Given the description of an element on the screen output the (x, y) to click on. 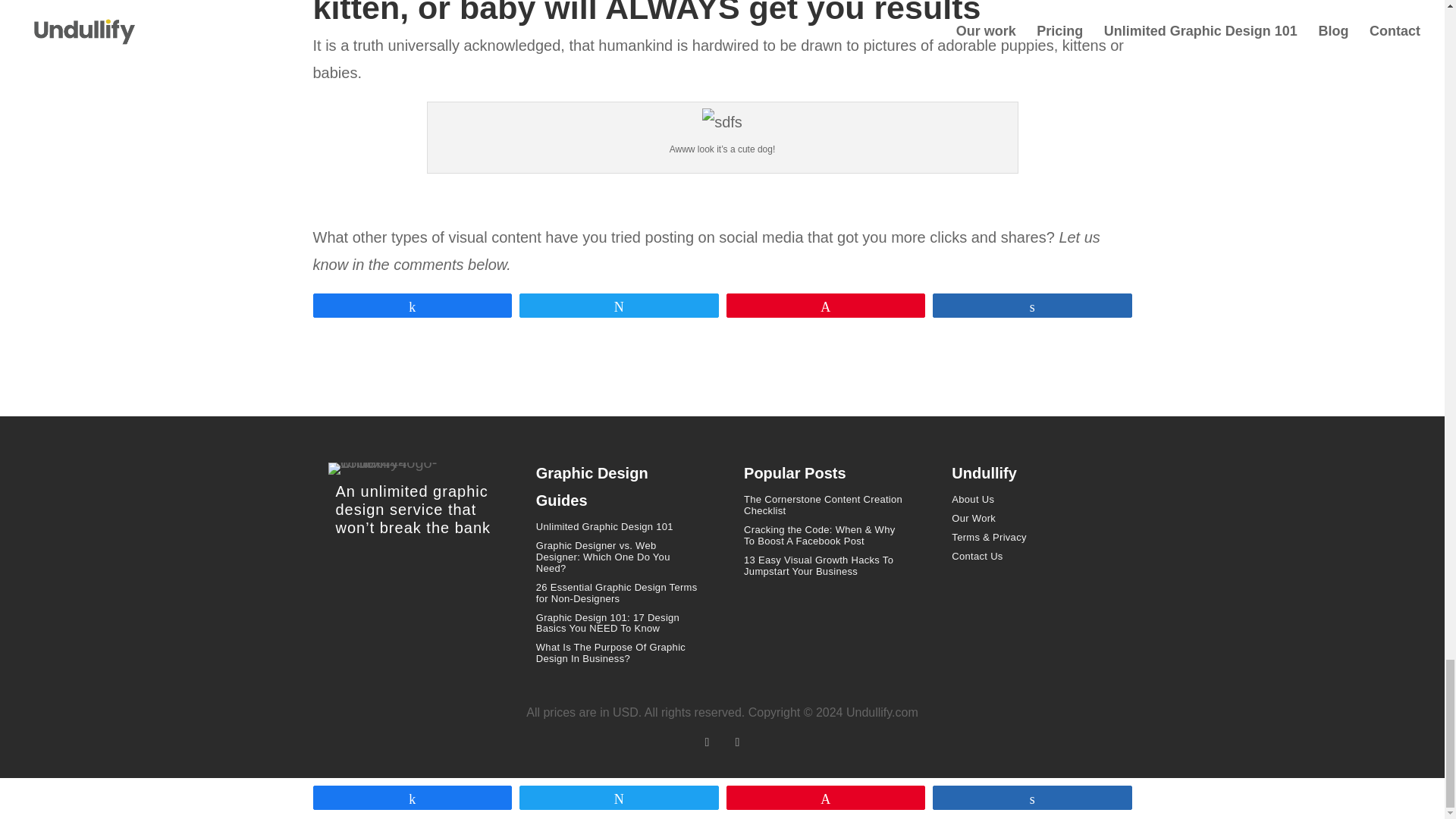
Unlimited Graphic Design 101 (603, 526)
Graphic Design 101: 17 Design Basics You NEED To Know (607, 622)
13 Easy Visual Growth Hacks To Jumpstart Your Business (818, 565)
Follow on Facebook (706, 742)
Contact Us (977, 555)
Graphic Designer vs. Web Designer: Which One Do You Need? (602, 556)
Follow on Instagram (737, 742)
The Cornerstone Content Creation Checklist (823, 504)
About Us (973, 499)
Our Work (973, 518)
26 Essential Graphic Design Terms for Non-Designers (616, 592)
What Is The Purpose Of Graphic Design In Business? (610, 652)
